Given the description of an element on the screen output the (x, y) to click on. 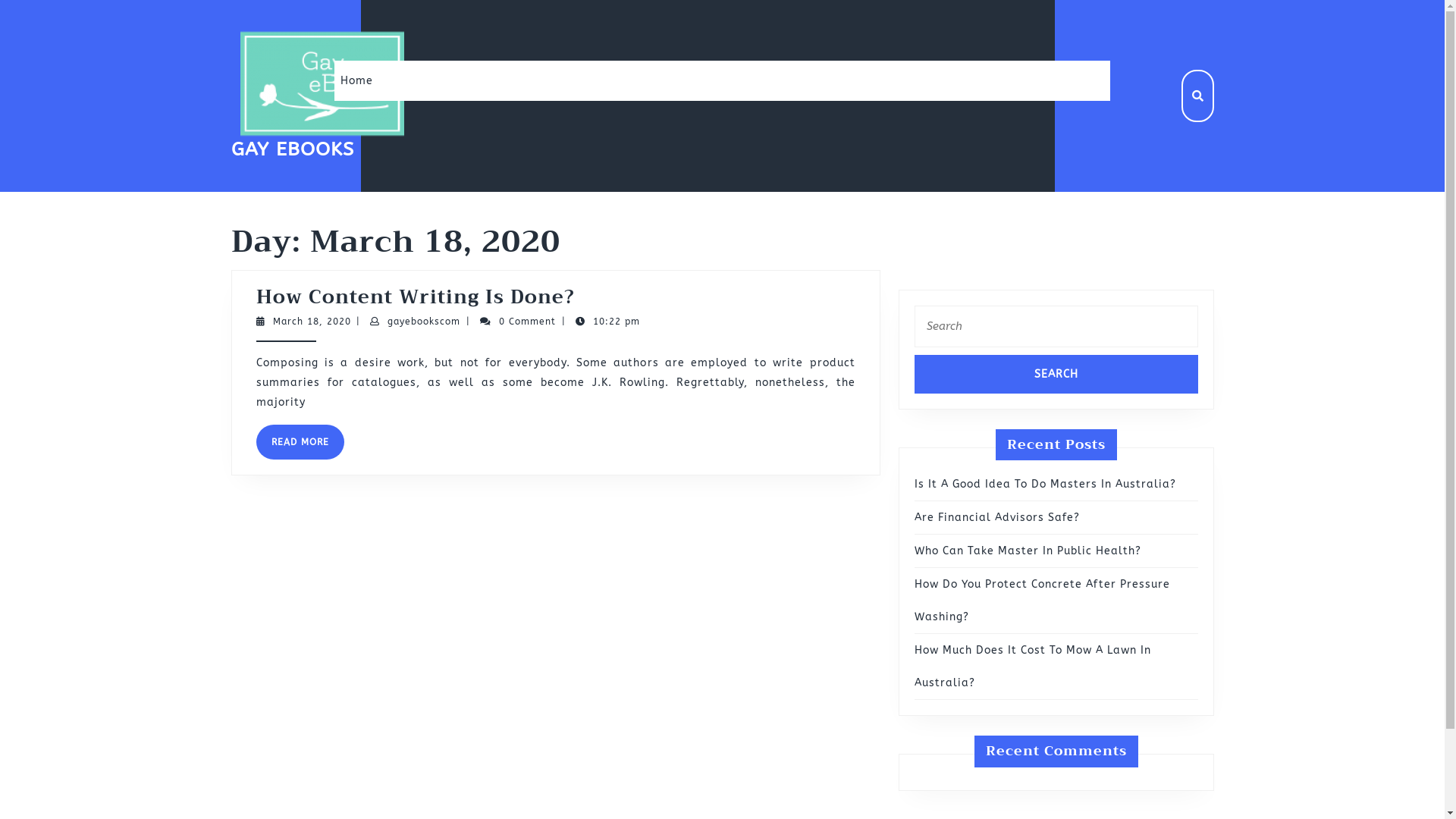
Are Financial Advisors Safe? Element type: text (996, 517)
March 18, 2020
March 18, 2020 Element type: text (312, 321)
Is It A Good Idea To Do Masters In Australia? Element type: text (1045, 483)
Who Can Take Master In Public Health? Element type: text (1027, 550)
gayebookscom
gayebookscom Element type: text (423, 321)
GAY EBOOKS Element type: text (291, 149)
READ MORE
READ MORE Element type: text (300, 441)
How Content Writing Is Done?
How Content Writing Is Done? Element type: text (415, 296)
How Do You Protect Concrete After Pressure Washing? Element type: text (1042, 600)
How Much Does It Cost To Mow A Lawn In Australia? Element type: text (1032, 666)
Search Element type: text (1056, 373)
Home Element type: text (356, 80)
